Given the description of an element on the screen output the (x, y) to click on. 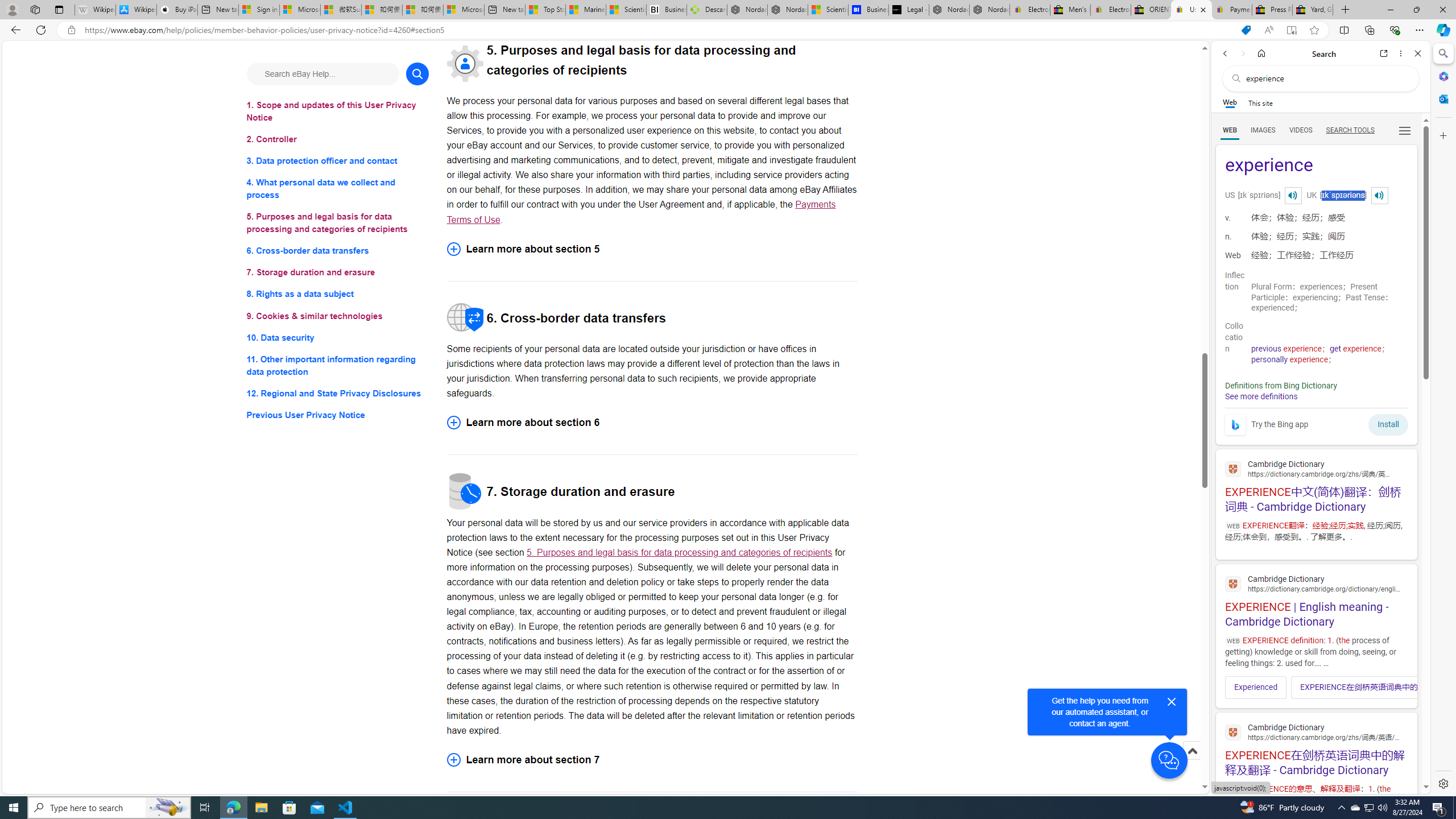
4. What personal data we collect and process (337, 189)
Payments Terms of Use - opens in new window or tab (640, 211)
Learn more about section 7 (651, 759)
Scroll to top (1191, 750)
10. Data security (337, 336)
Click to scroll right (1400, 687)
previous experience (1286, 348)
